Given the description of an element on the screen output the (x, y) to click on. 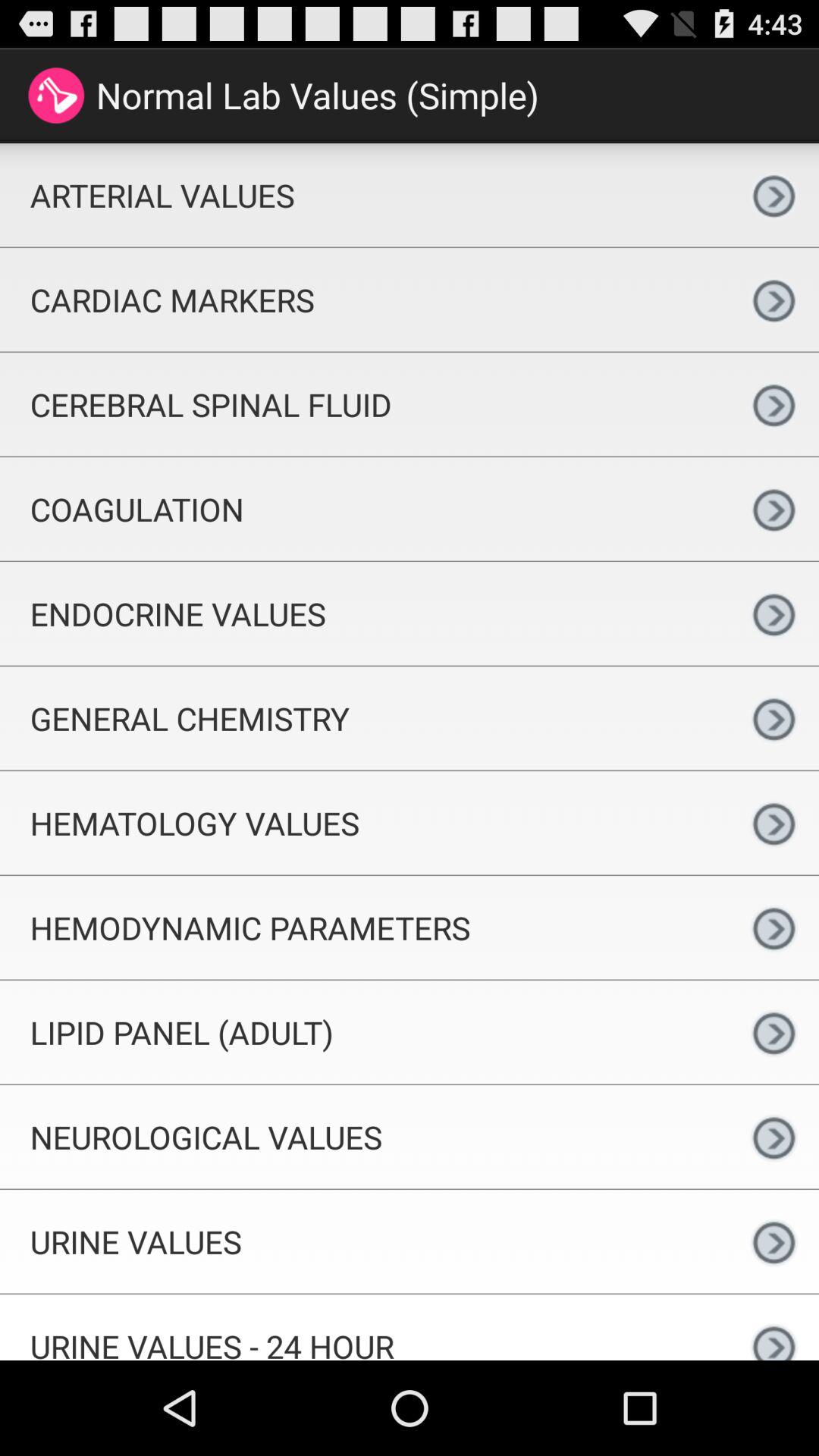
turn on item below the cerebral spinal fluid icon (364, 508)
